Given the description of an element on the screen output the (x, y) to click on. 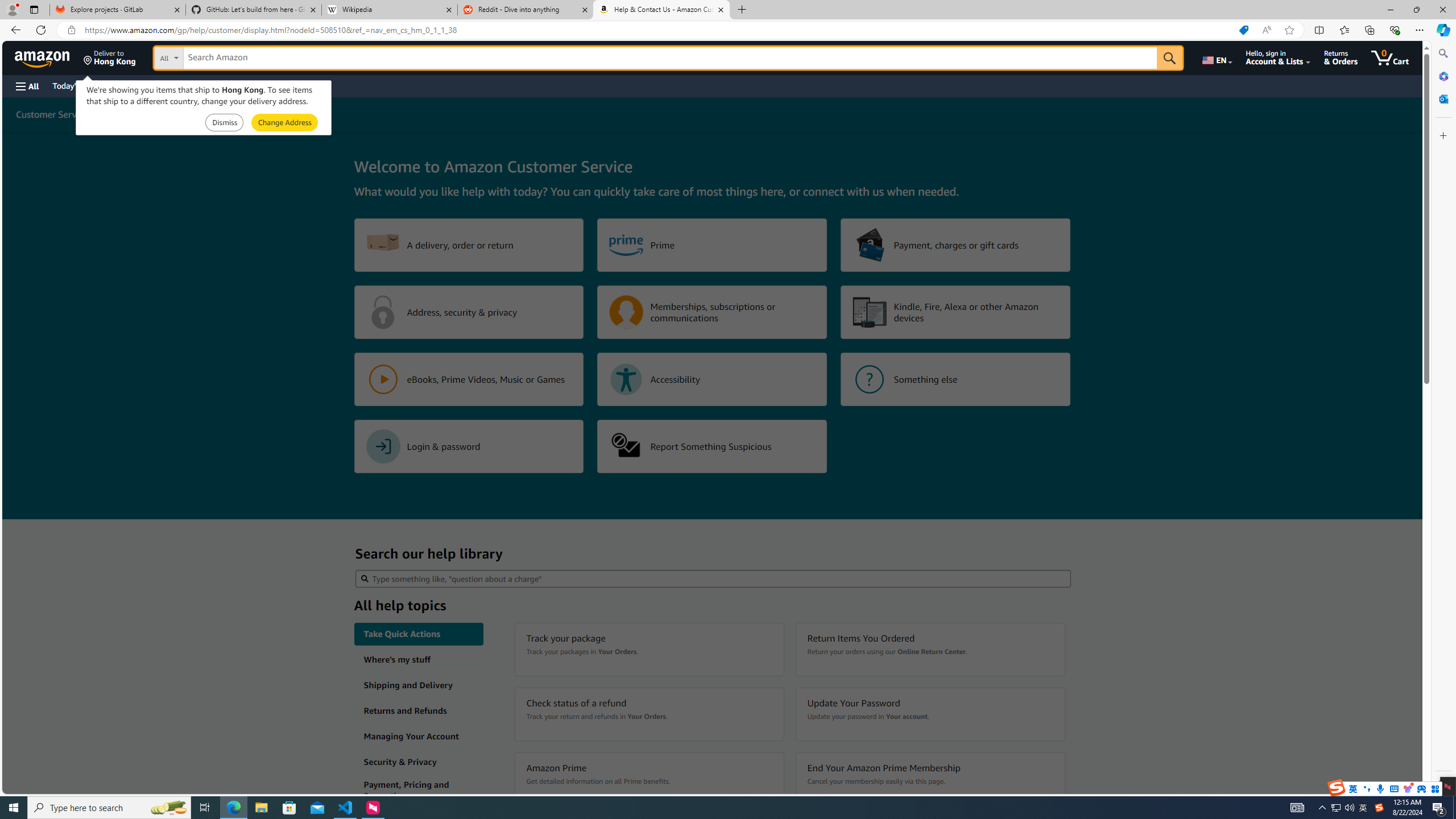
Address, security & privacy (468, 312)
Accessibility (711, 379)
eBooks, Prime Videos, Music or Games (468, 379)
Search our help library (713, 578)
Report Something Suspicious (711, 446)
Amazon Prime Get detailed information on all Prime benefits. (648, 778)
Amazon (43, 57)
